Given the description of an element on the screen output the (x, y) to click on. 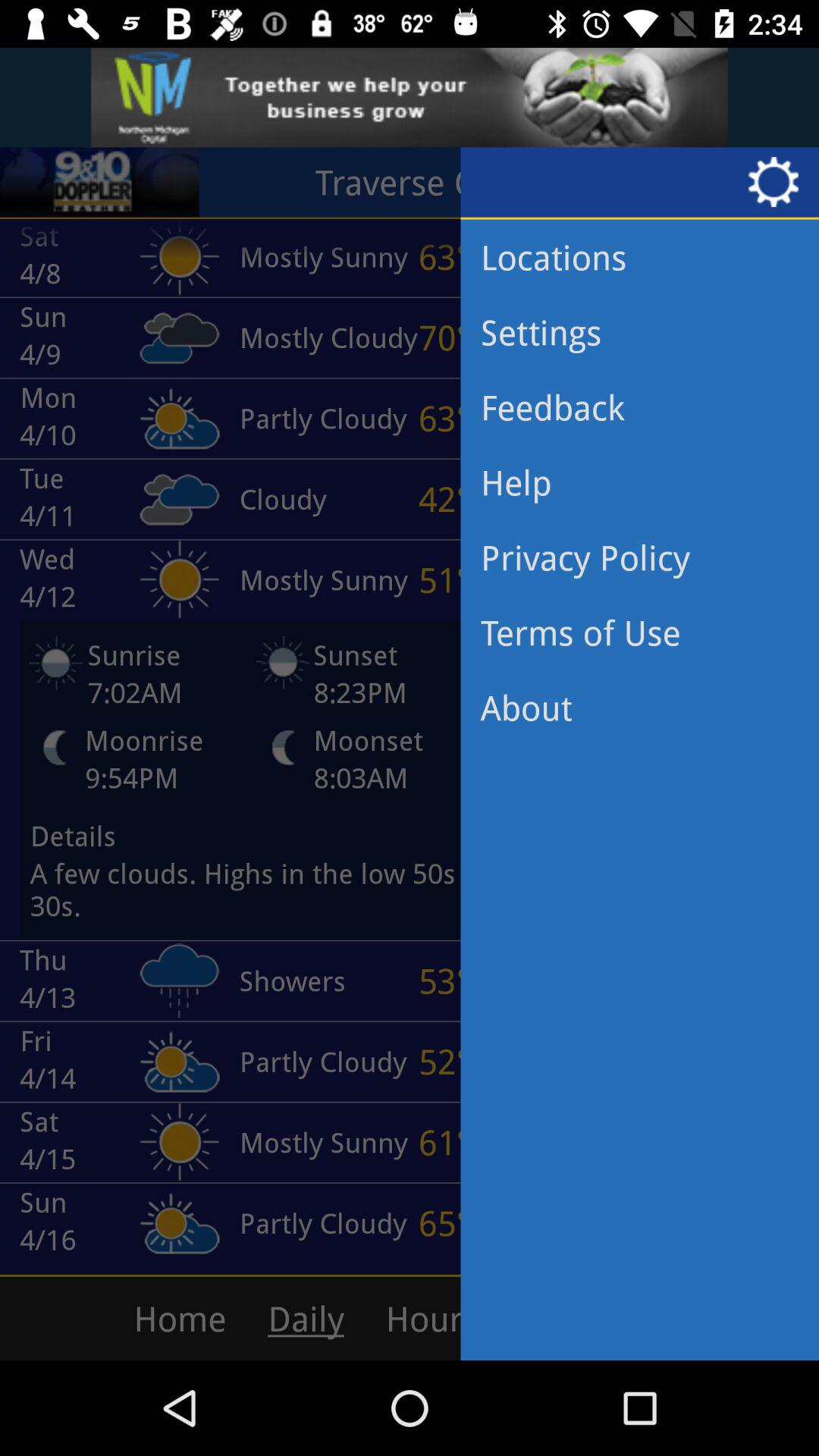
click on the option which says daily (316, 1317)
click on the option which says daily (316, 1317)
select mon 410 (109, 418)
select hour (497, 1317)
click on settings icon (778, 181)
